Given the description of an element on the screen output the (x, y) to click on. 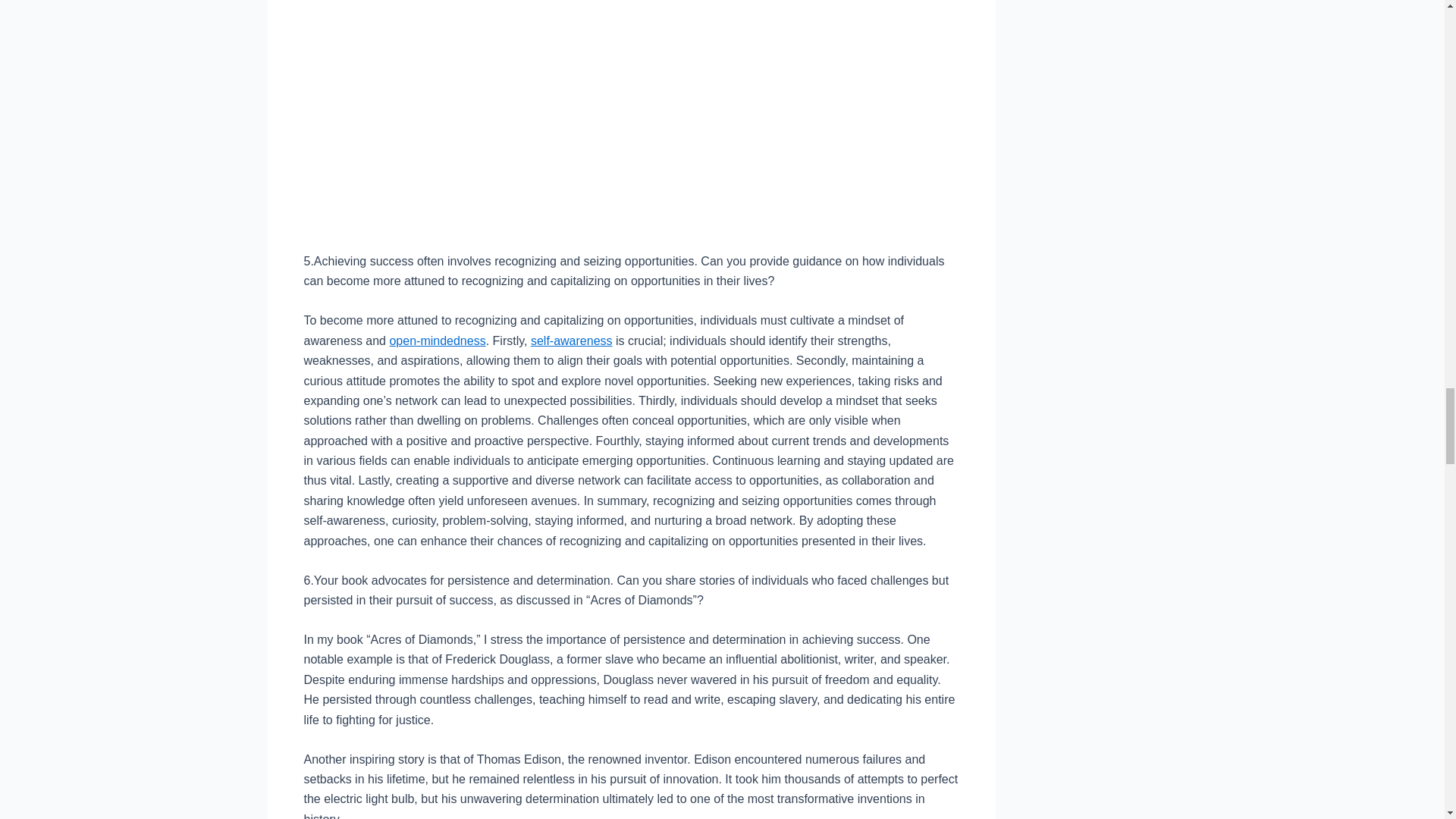
self-awareness (571, 340)
open-mindedness (436, 340)
